Given the description of an element on the screen output the (x, y) to click on. 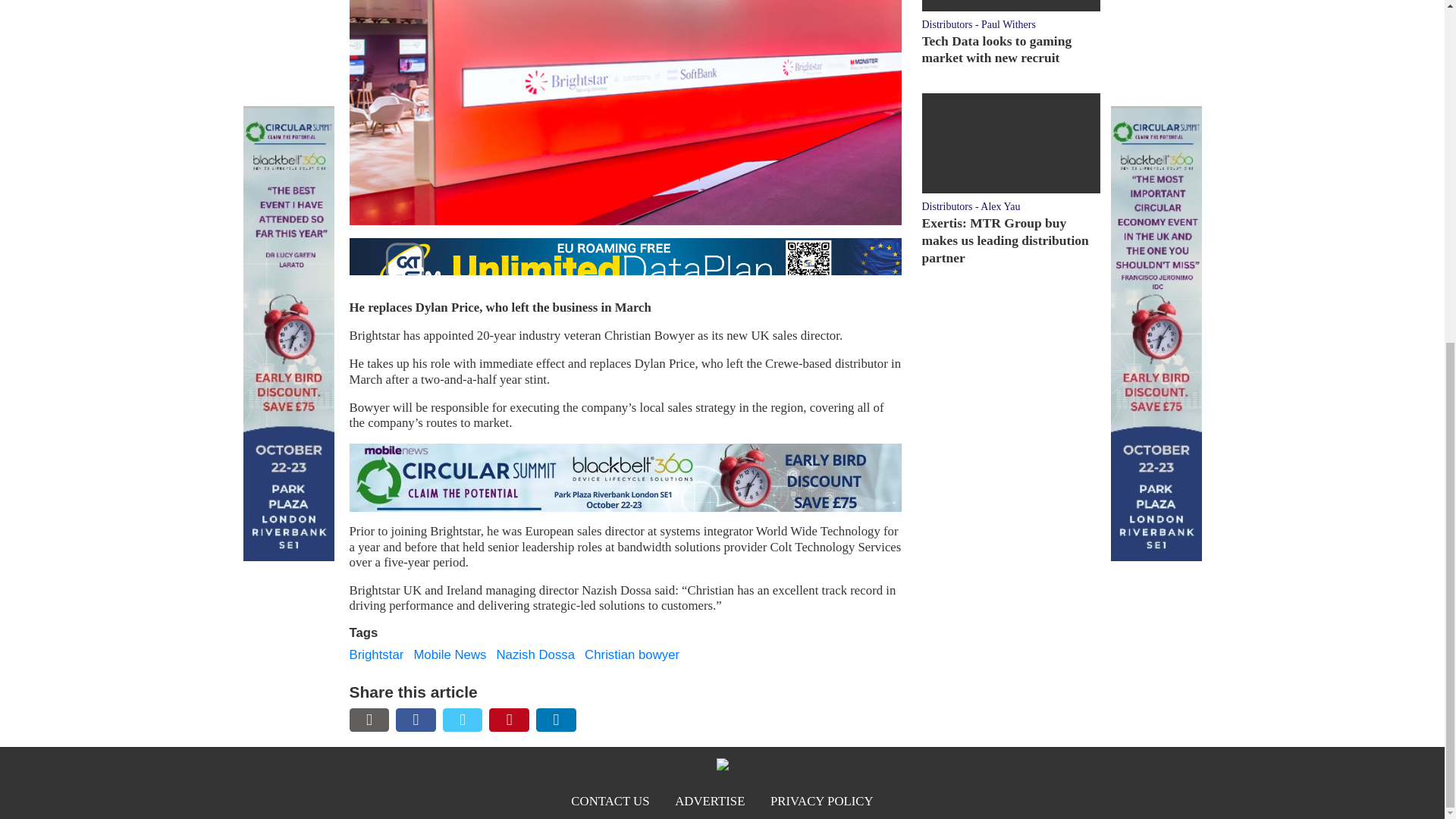
Christian bowyer (632, 654)
Nazish Dossa (535, 654)
Brightstar (376, 654)
Mobile News (449, 654)
